Given the description of an element on the screen output the (x, y) to click on. 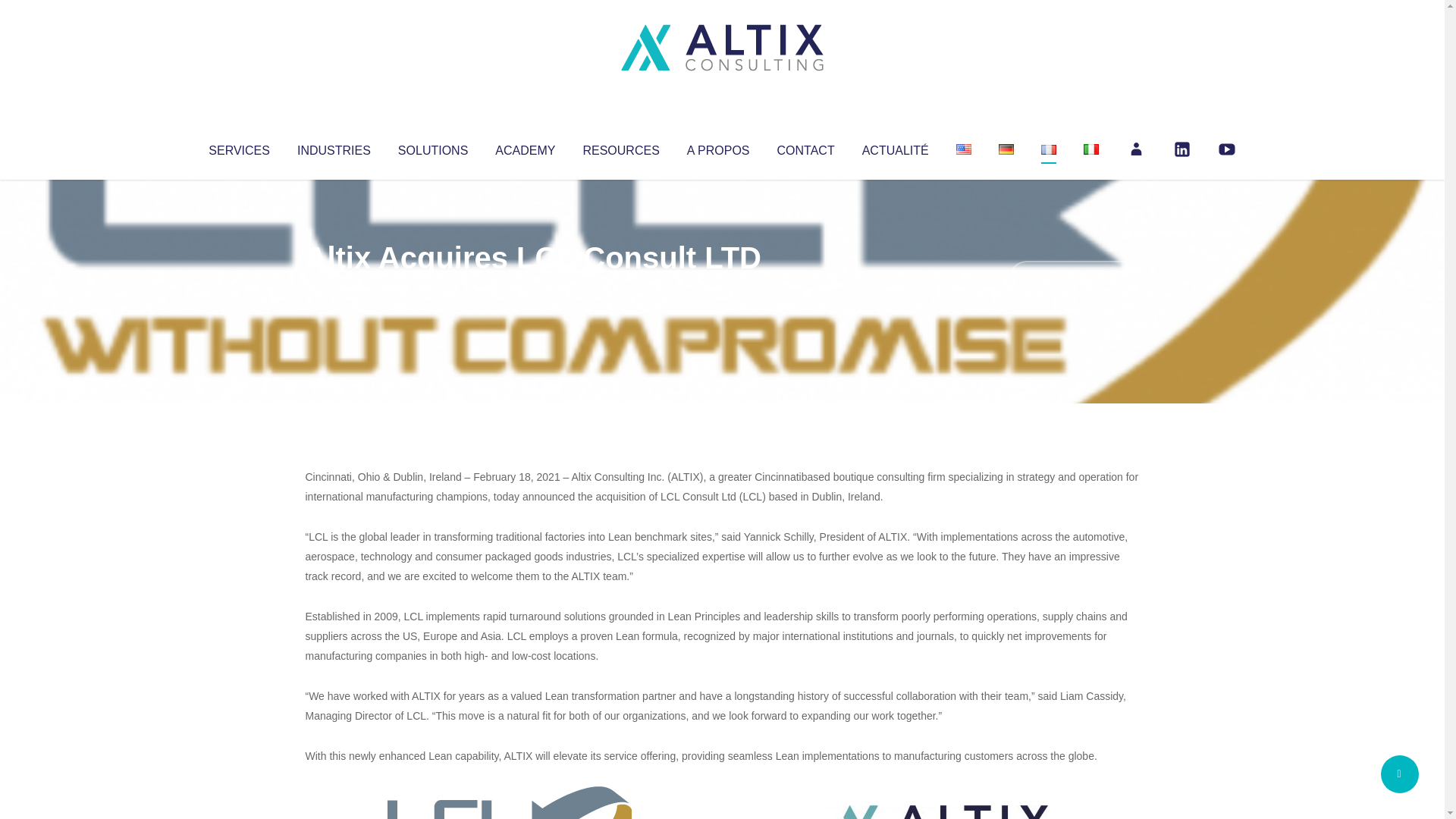
RESOURCES (620, 146)
ACADEMY (524, 146)
INDUSTRIES (334, 146)
SERVICES (238, 146)
SOLUTIONS (432, 146)
Articles par Altix (333, 287)
A PROPOS (718, 146)
Uncategorized (530, 287)
No Comments (1073, 278)
Altix (333, 287)
